Given the description of an element on the screen output the (x, y) to click on. 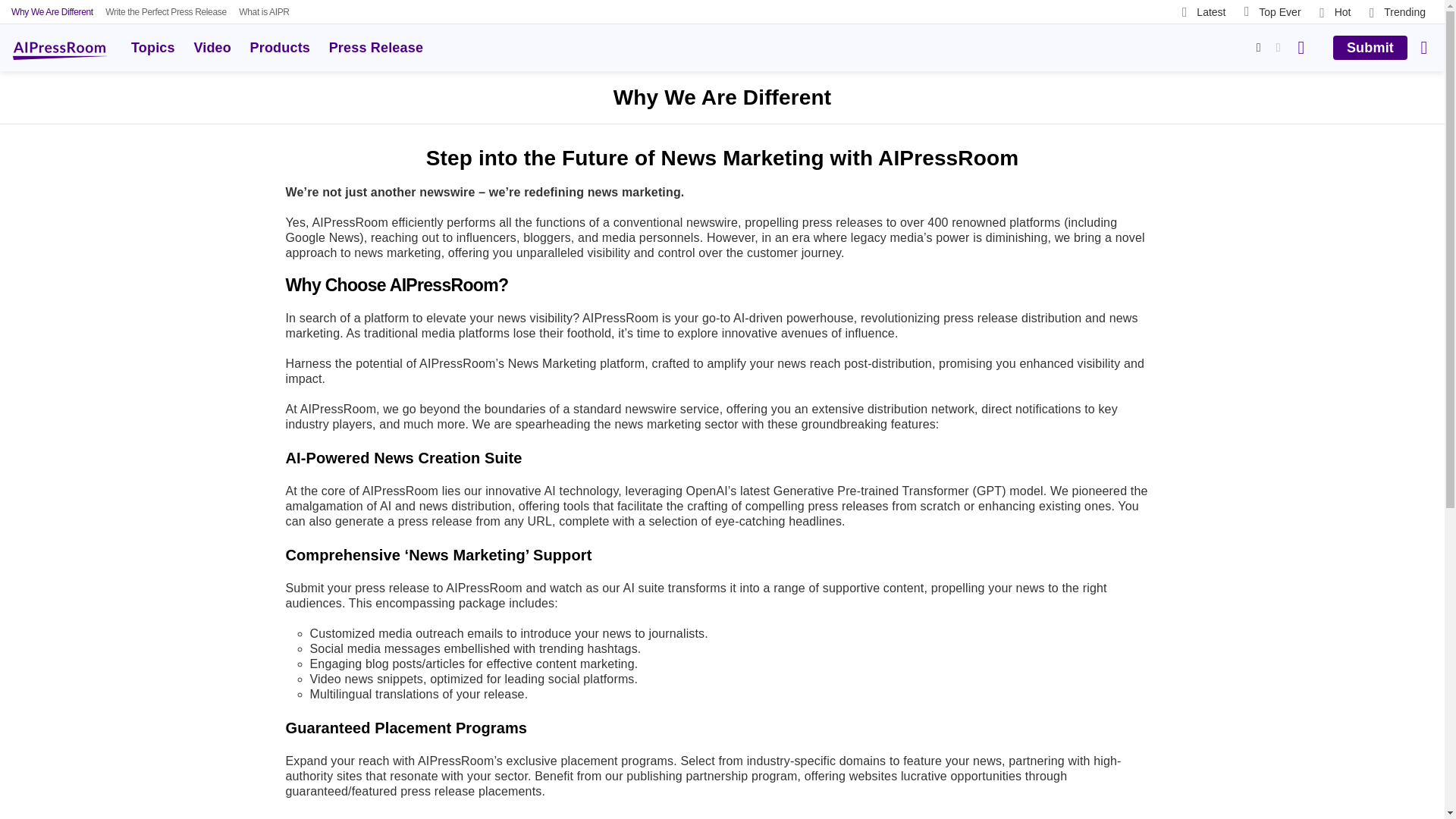
Products (280, 47)
Press Release (375, 47)
Top Ever (1271, 11)
Latest (1203, 11)
Trending (1396, 11)
Hot (1334, 11)
What is AIPR (263, 12)
Submit (1370, 47)
Topics (153, 47)
Why We Are Different (52, 12)
